Given the description of an element on the screen output the (x, y) to click on. 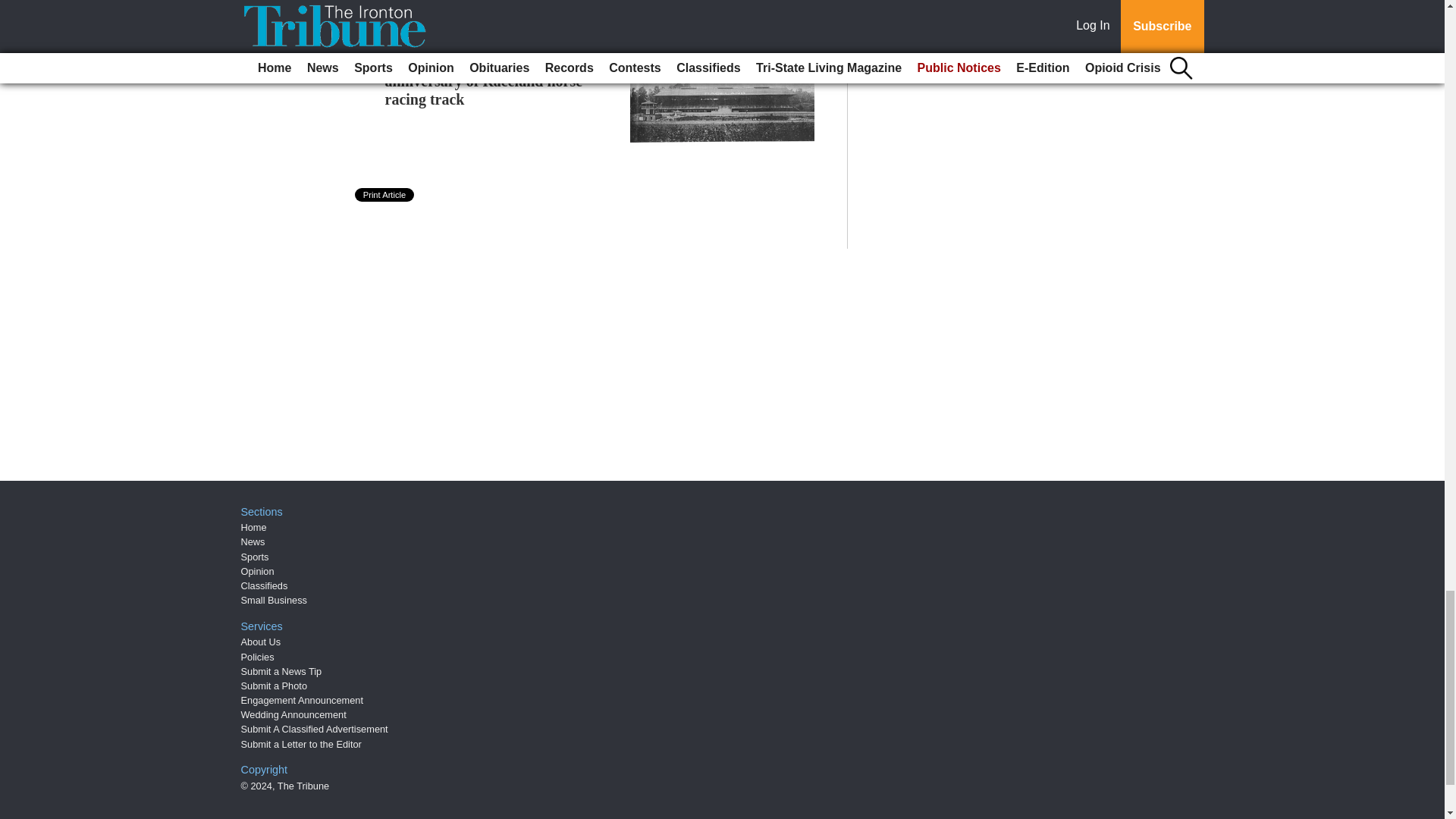
Home (253, 527)
Print Article (384, 194)
News (252, 541)
